Given the description of an element on the screen output the (x, y) to click on. 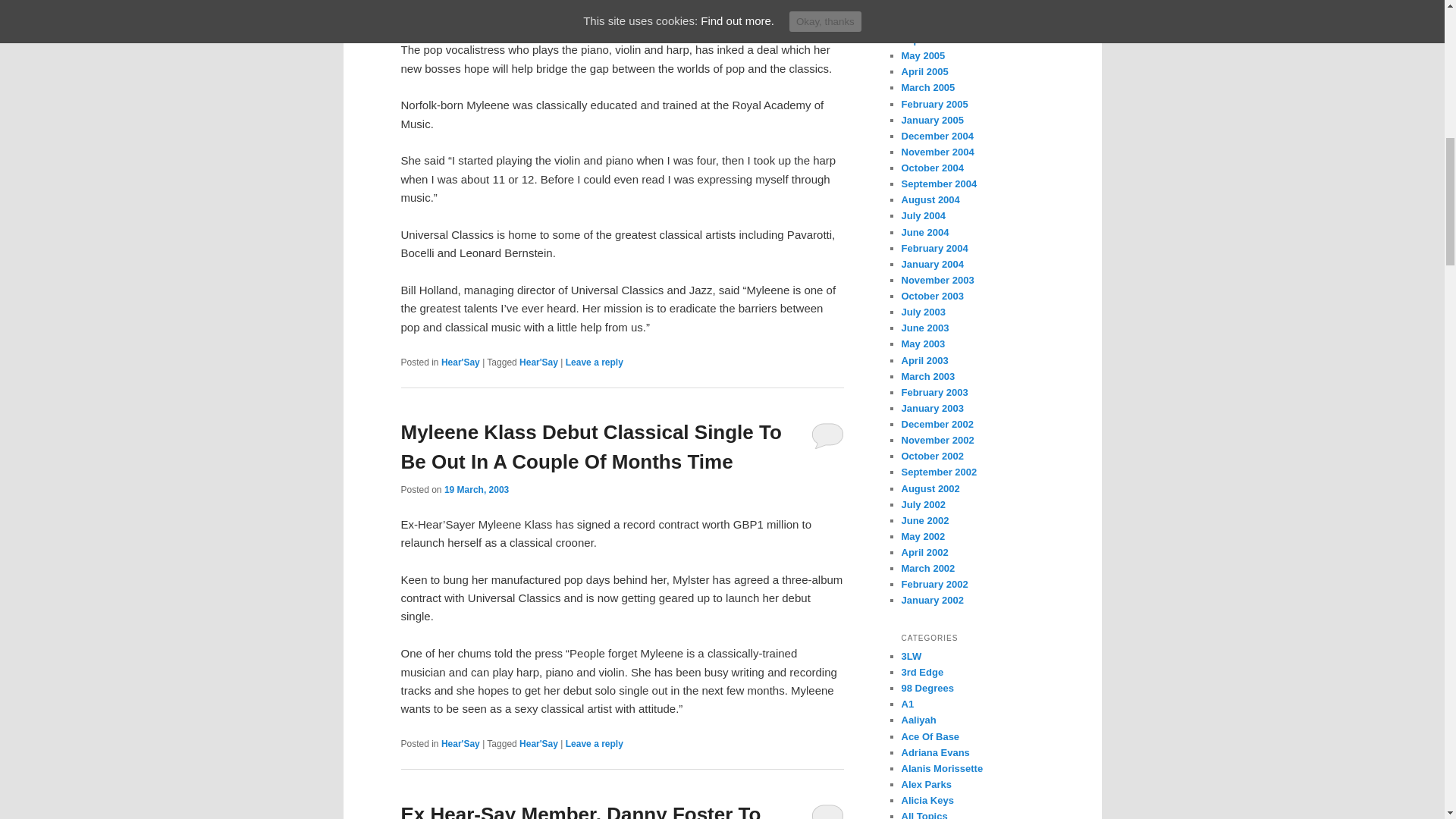
19 March, 2003 (476, 489)
Leave a reply (594, 743)
Hear'Say (460, 743)
12:10 pm (476, 489)
Hear'Say (538, 743)
Ex Hear-Say Member, Danny Foster To Go Solo (580, 811)
Hear'Say (460, 362)
Hear'Say (538, 362)
Leave a reply (594, 362)
